Given the description of an element on the screen output the (x, y) to click on. 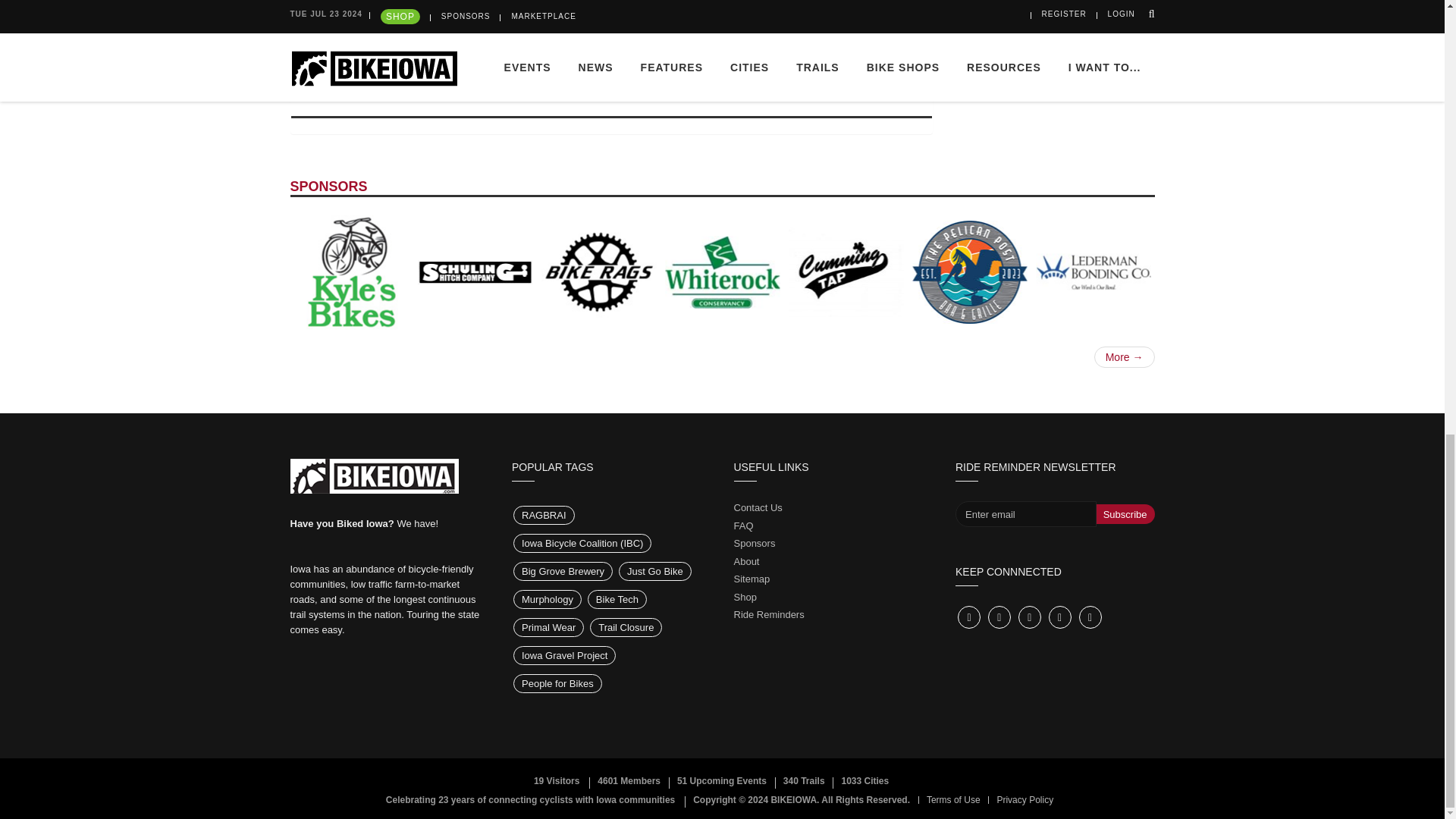
View details about core4 (976, 18)
